Given the description of an element on the screen output the (x, y) to click on. 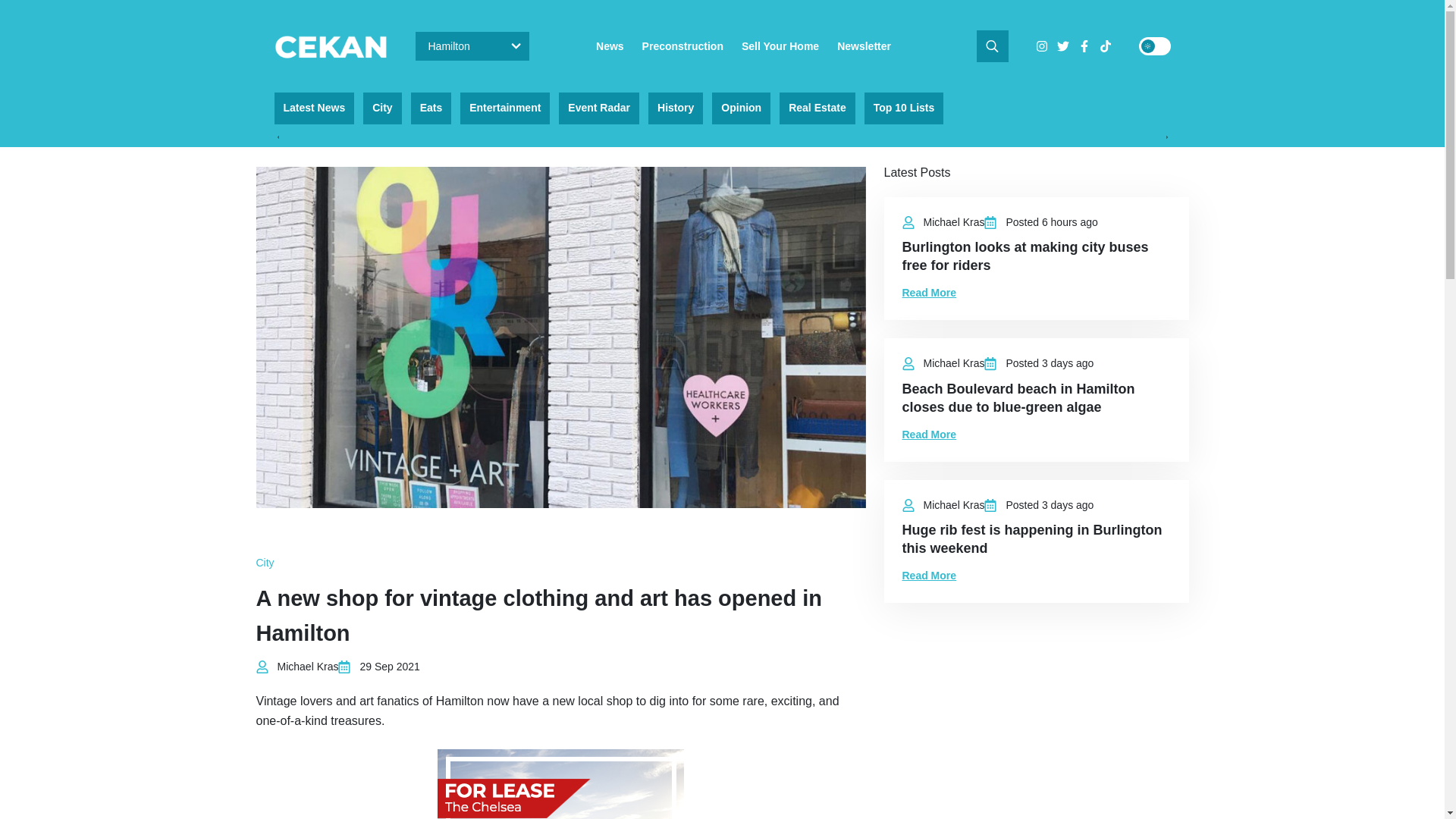
History (675, 107)
Eats (430, 107)
Michael Kras (308, 666)
Entertainment (505, 107)
News (609, 46)
Preconstruction (682, 46)
Real Estate (816, 107)
Event Radar (599, 107)
City (381, 107)
City (265, 562)
